Given the description of an element on the screen output the (x, y) to click on. 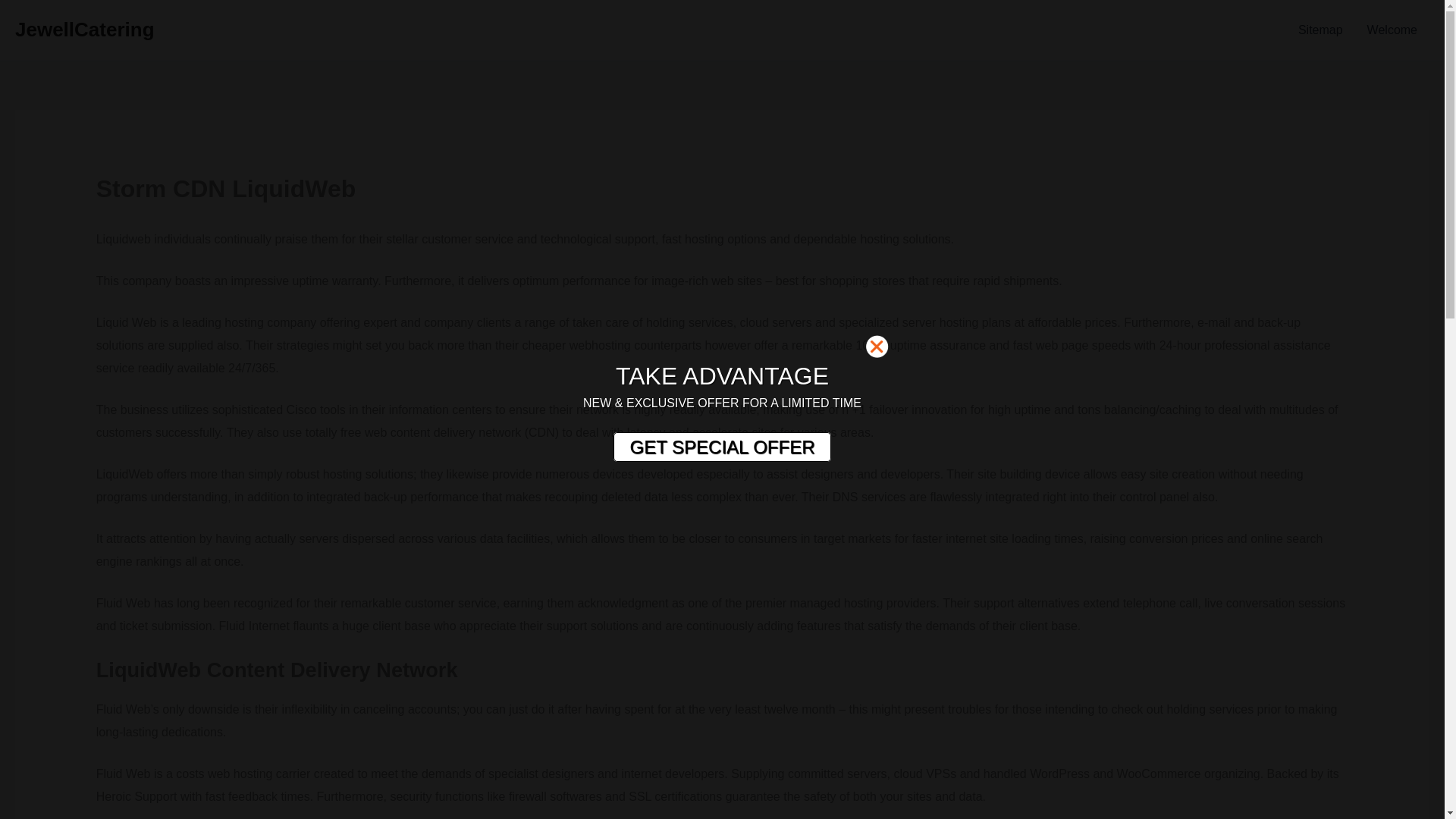
JewellCatering (84, 29)
GET SPECIAL OFFER (720, 446)
Sitemap (1320, 30)
Welcome (1392, 30)
